Given the description of an element on the screen output the (x, y) to click on. 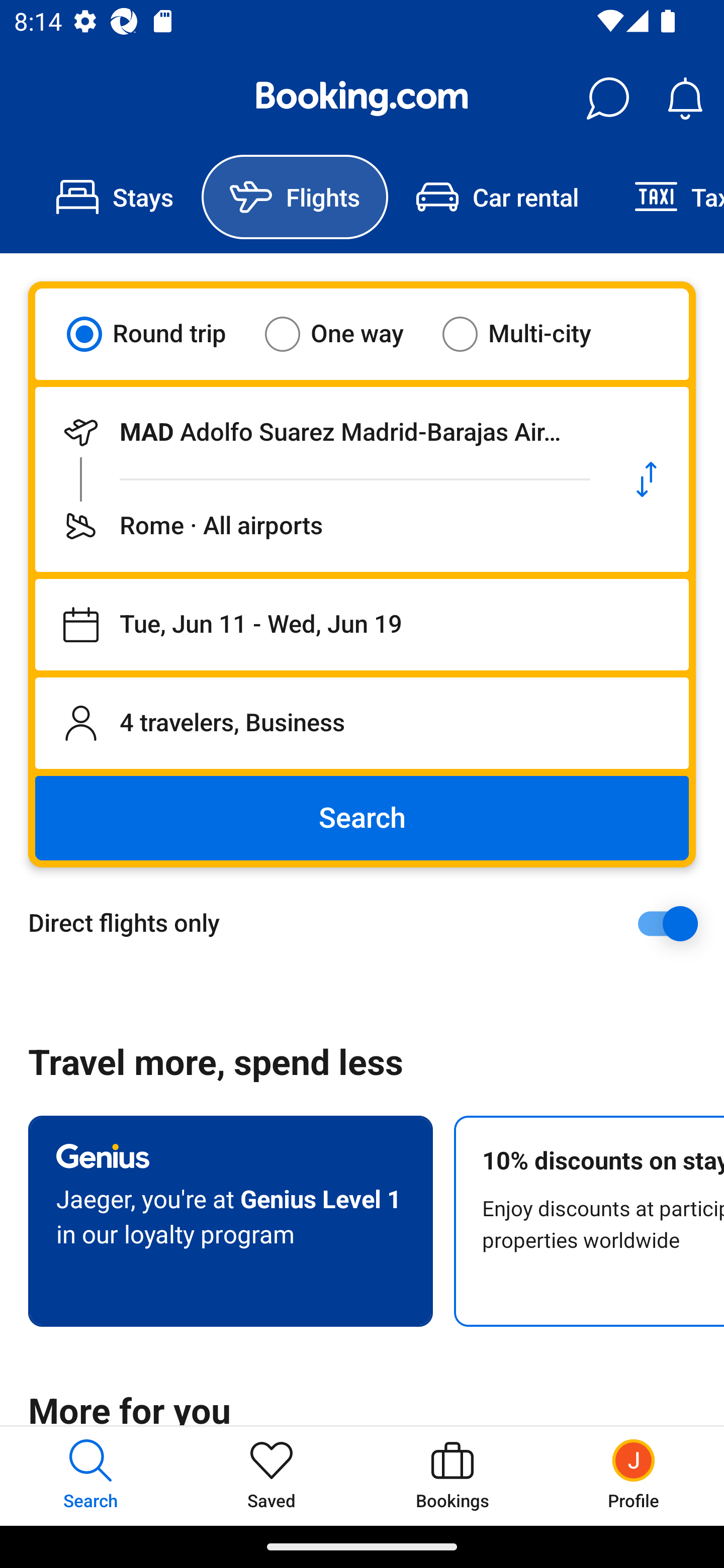
Messages (607, 98)
Notifications (685, 98)
Stays (114, 197)
Flights (294, 197)
Car rental (497, 197)
Taxi (665, 197)
One way (346, 333)
Multi-city (528, 333)
Swap departure location and destination (646, 479)
Flying to Rome · All airports (319, 525)
Departing on Tue, Jun 11, returning on Wed, Jun 19 (361, 624)
4 travelers, Business (361, 722)
Search (361, 818)
Direct flights only (369, 923)
Saved (271, 1475)
Bookings (452, 1475)
Profile (633, 1475)
